Given the description of an element on the screen output the (x, y) to click on. 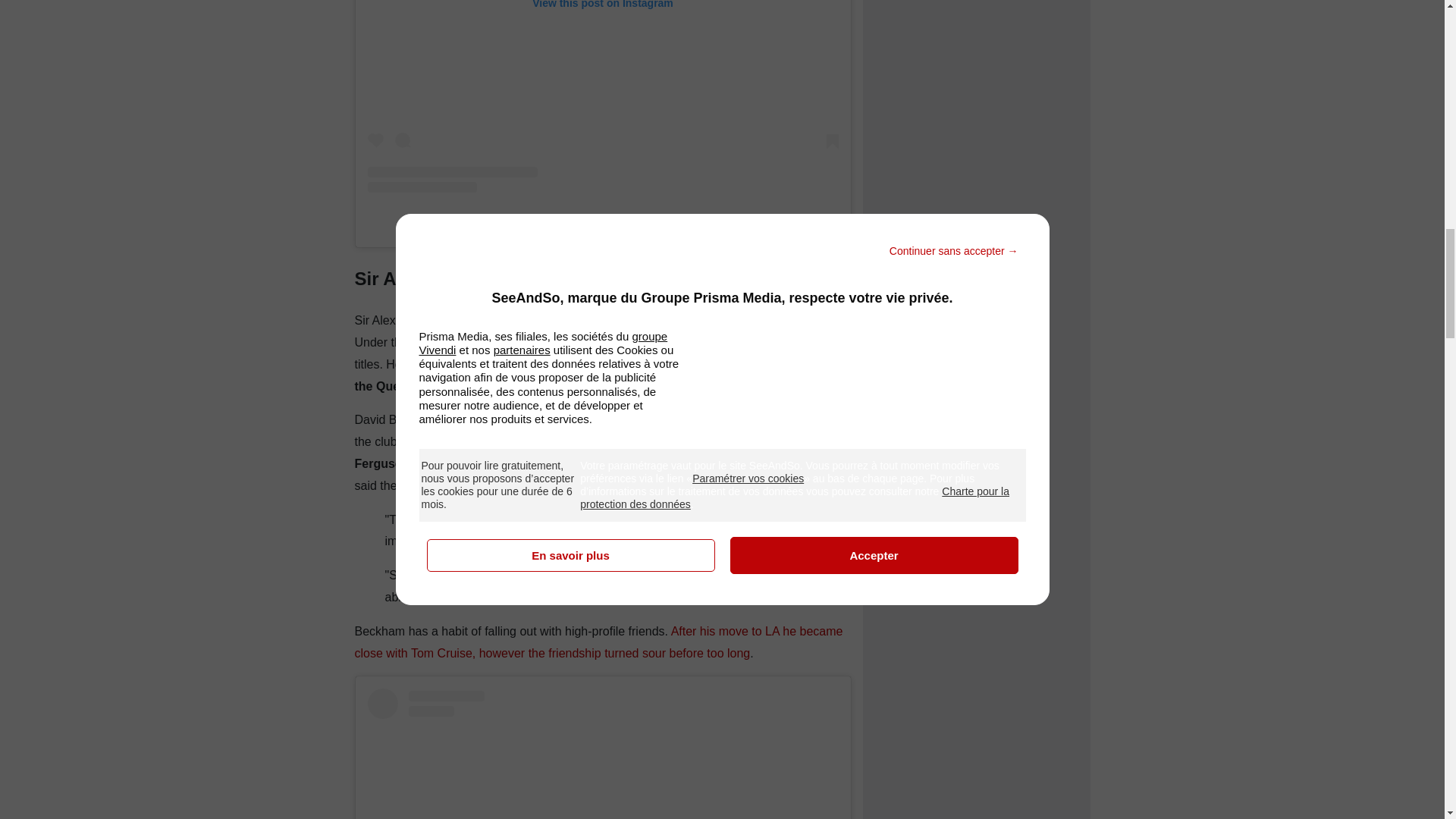
View this post on Instagram (602, 753)
View this post on Instagram (602, 96)
